Given the description of an element on the screen output the (x, y) to click on. 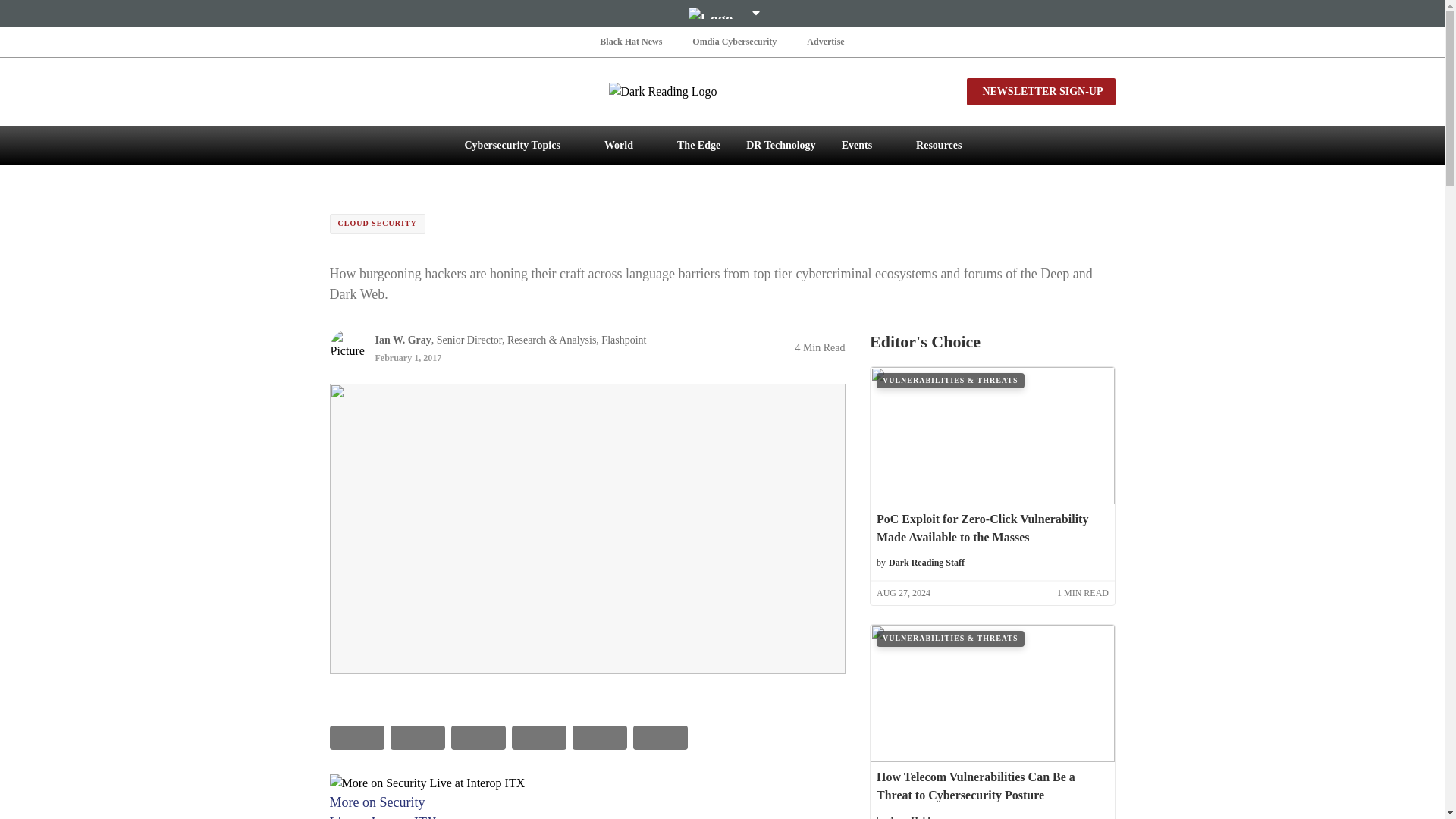
Picture of Ian W. Gray (347, 347)
NEWSLETTER SIGN-UP (1040, 90)
Omdia Cybersecurity (733, 41)
 More on Security Live at Interop ITX  (586, 782)
Advertise (825, 41)
Black Hat News (630, 41)
Dark Reading Logo (721, 91)
